Given the description of an element on the screen output the (x, y) to click on. 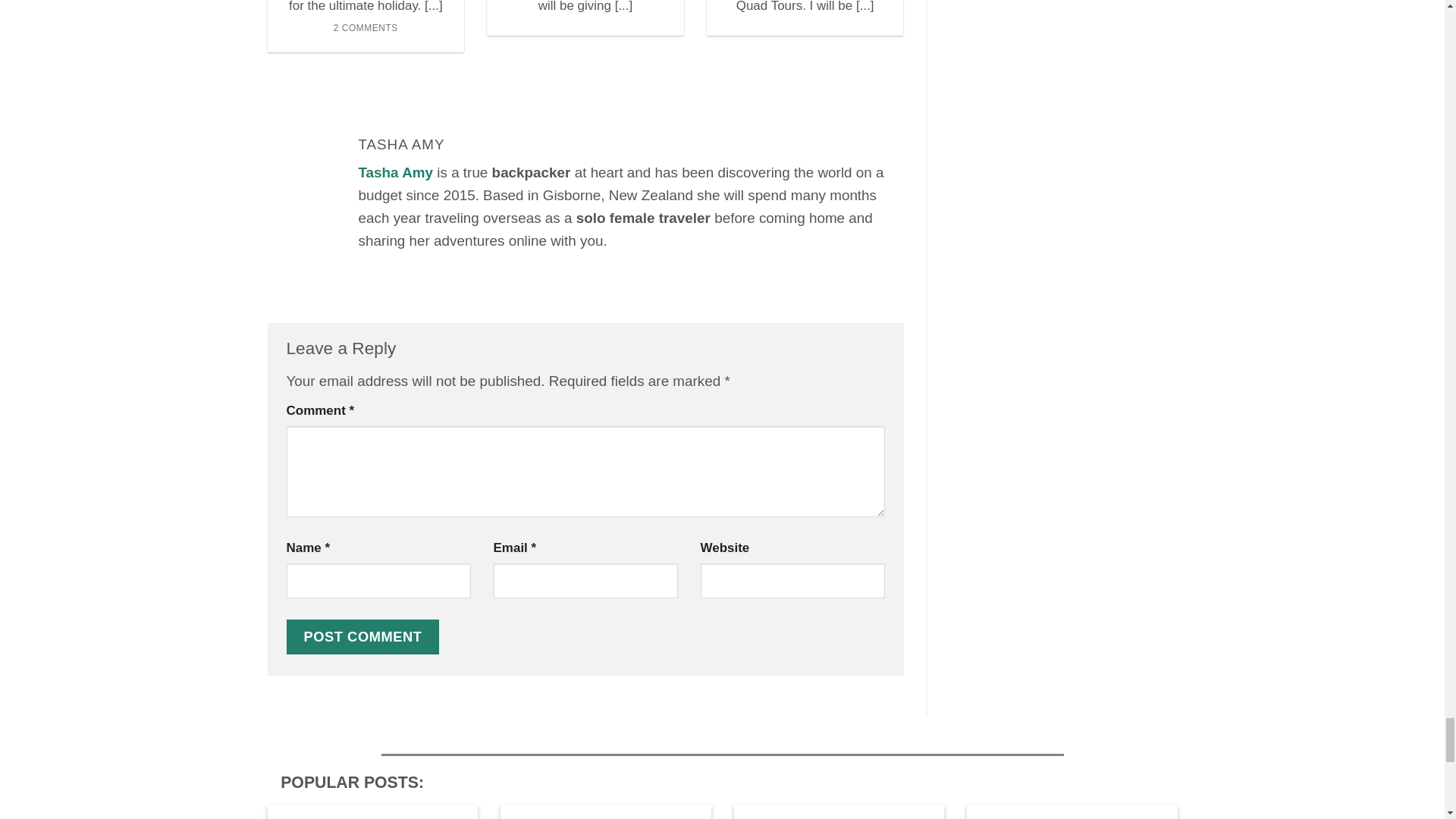
Post Comment (362, 636)
